Given the description of an element on the screen output the (x, y) to click on. 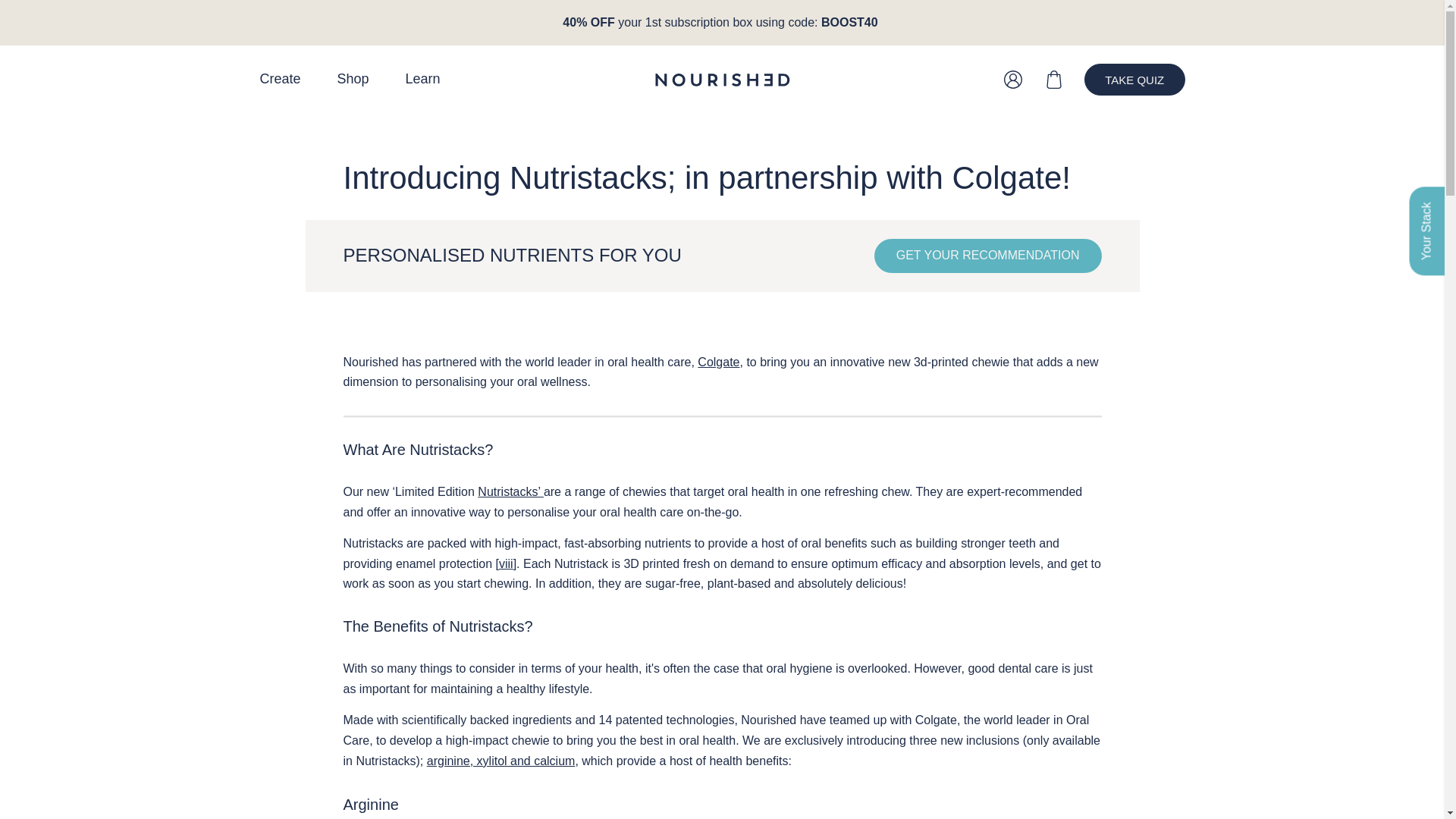
Shop (353, 80)
Learn (423, 80)
TAKE QUIZ (1134, 79)
Create (279, 80)
